Given the description of an element on the screen output the (x, y) to click on. 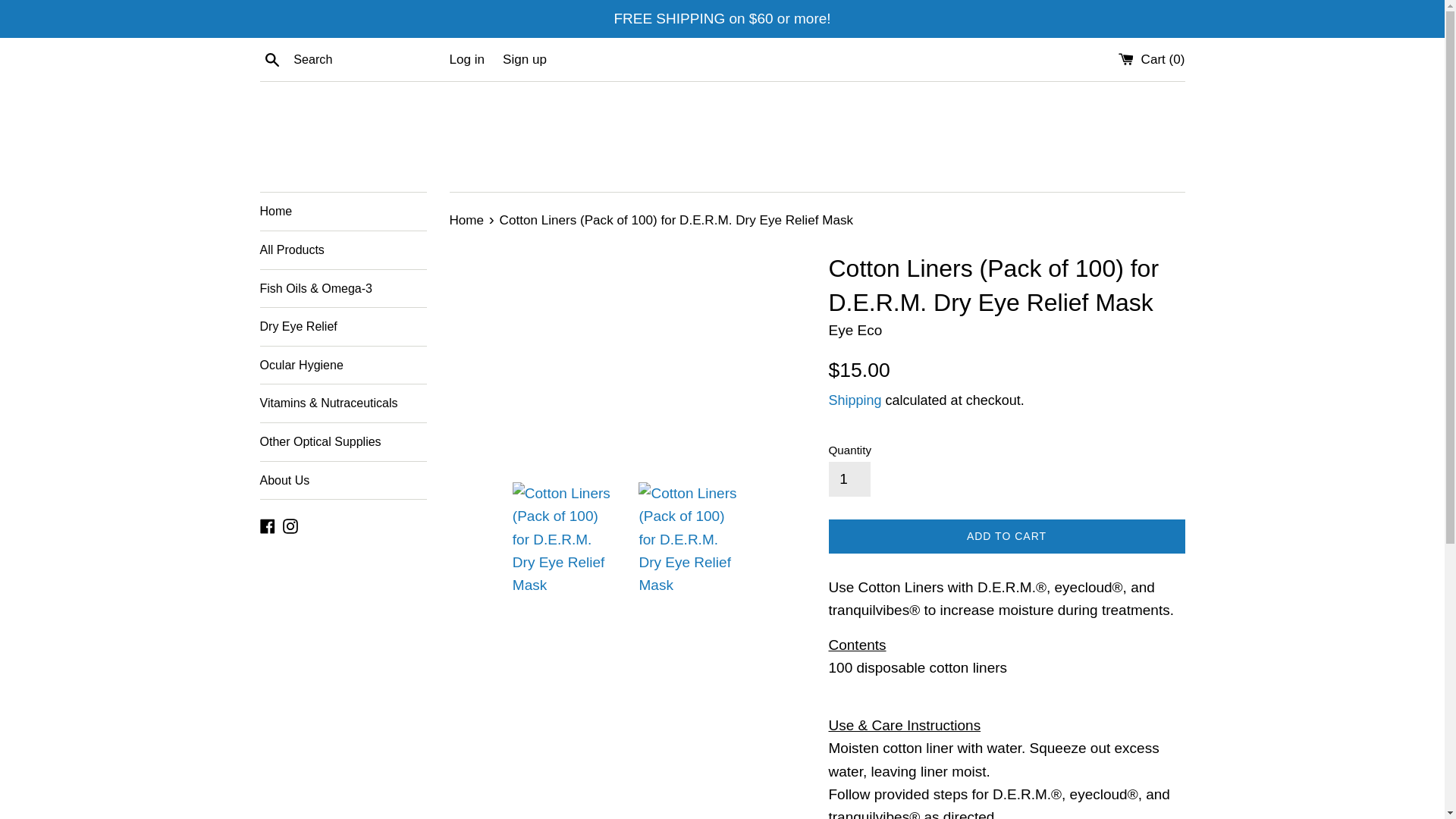
InSight Eye Care Online Store on Facebook (267, 524)
1 (848, 478)
Shipping (854, 400)
InSight Eye Care Online Store on Instagram (290, 524)
Ocular Hygiene (342, 365)
Sign up (524, 59)
Search (271, 58)
Instagram (290, 524)
Home (467, 219)
About Us (342, 480)
Other Optical Supplies (342, 442)
Dry Eye Relief (342, 326)
Facebook (267, 524)
Home (342, 211)
All Products (342, 249)
